Given the description of an element on the screen output the (x, y) to click on. 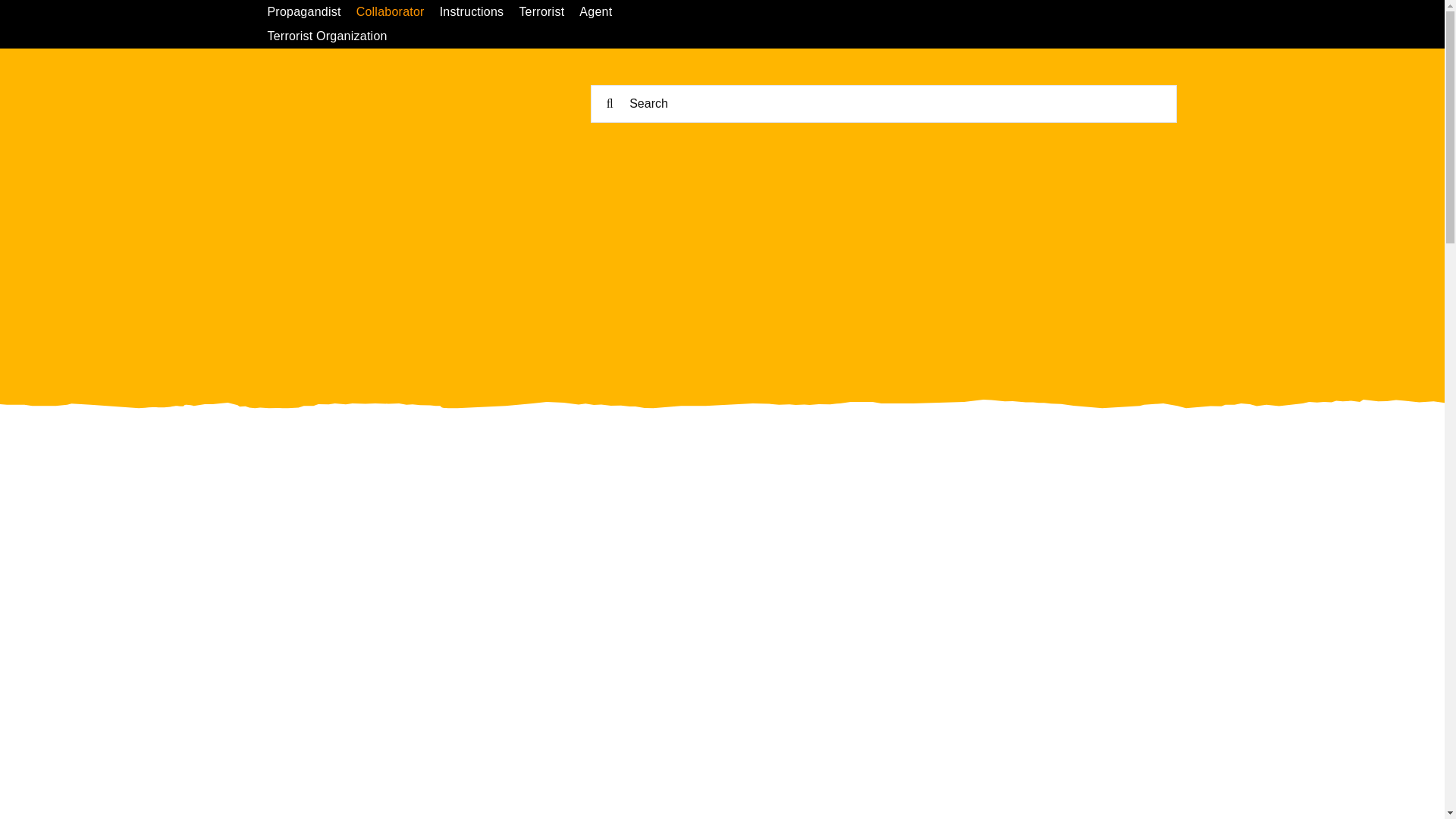
Terrorist Organization (333, 36)
Instructions (479, 12)
Propagandist (310, 12)
Agent (603, 12)
Terrorist (548, 12)
Collaborator (397, 12)
